Given the description of an element on the screen output the (x, y) to click on. 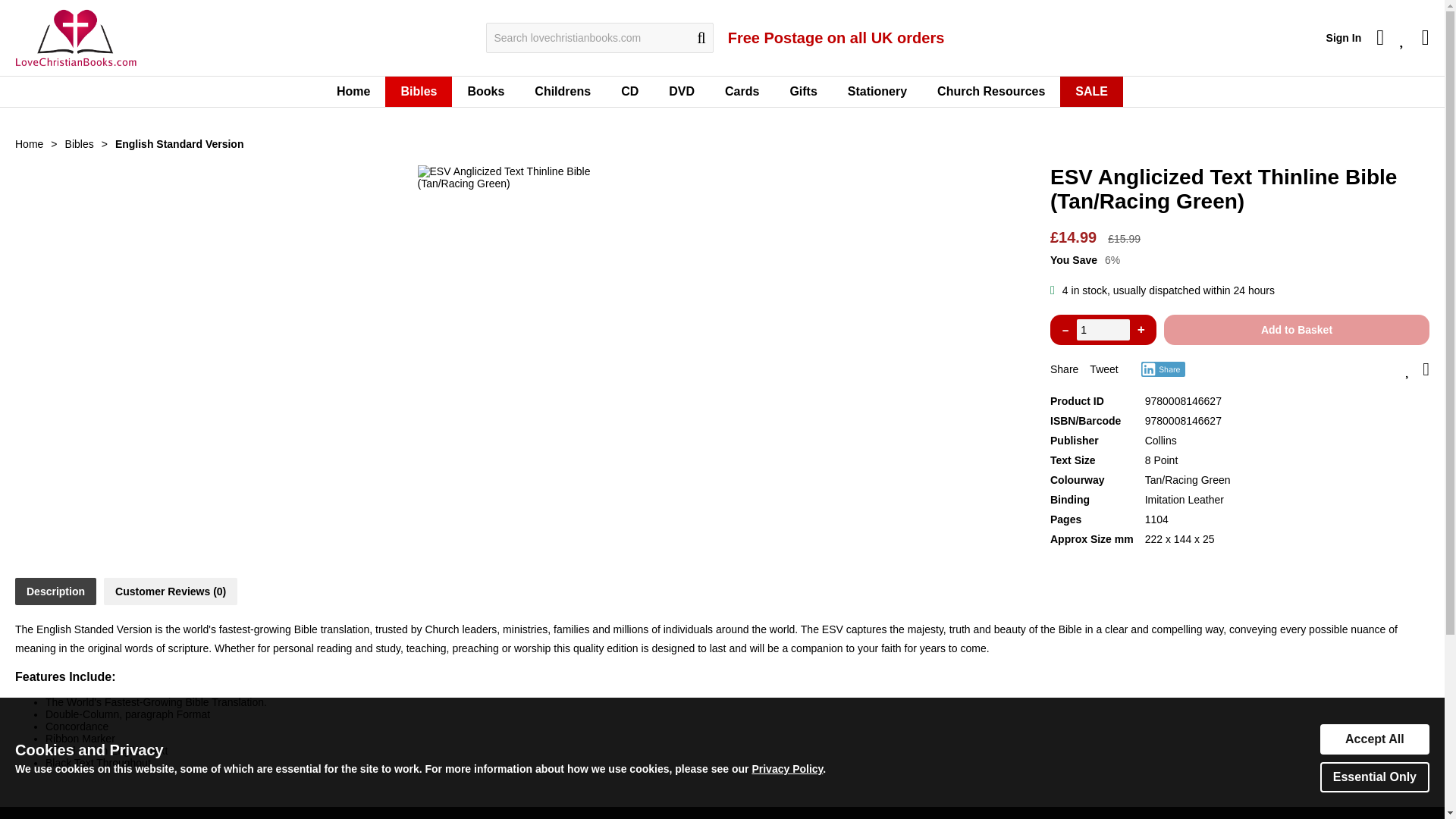
Books (485, 91)
Christian Films for all Ages on DVD (681, 91)
Christian Books from Popular Authors (485, 91)
Christian Gifts for all Occasions (802, 91)
Bibles (418, 91)
Individual Christian Greetings Cards, with Scripture Verses (742, 91)
Buy all the resources for your church here (990, 91)
Bargain Christian Products all at Great Prices (1090, 91)
1 (1103, 329)
Home (353, 91)
Wide Range of Popular Bibles Including KJV, NIV, NLT (418, 91)
Christian Stationery and Novelties (876, 91)
Sign In (1343, 37)
